Given the description of an element on the screen output the (x, y) to click on. 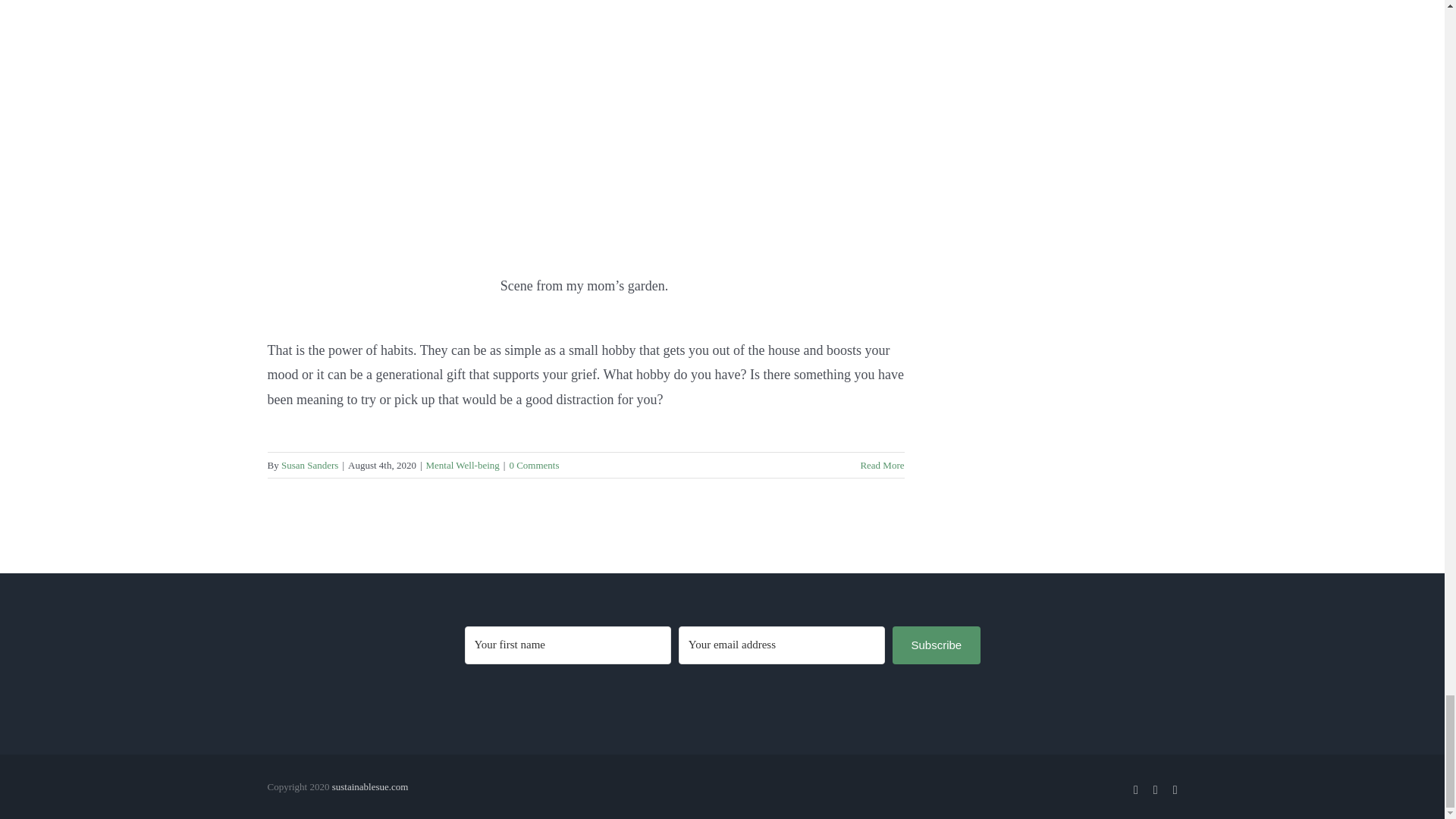
Mental Well-being (462, 464)
0 Comments (533, 464)
Read More (882, 464)
Susan Sanders (309, 464)
Posts by Susan Sanders (309, 464)
